Given the description of an element on the screen output the (x, y) to click on. 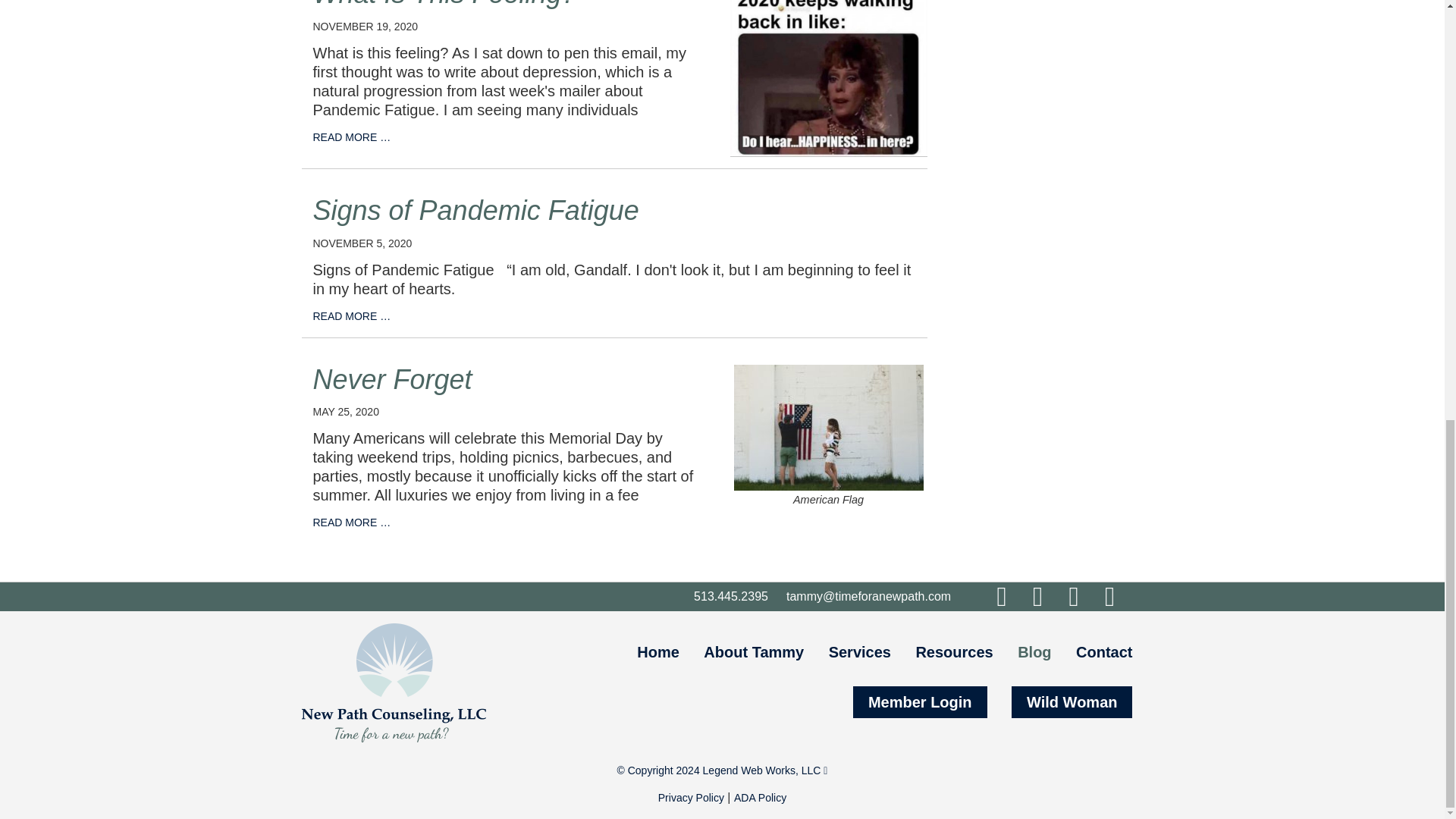
visit our LinkedIn page (1073, 596)
visit our Instagram page (1038, 596)
visit our YouTube page (1110, 596)
visit our facebook page (1001, 596)
